Given the description of an element on the screen output the (x, y) to click on. 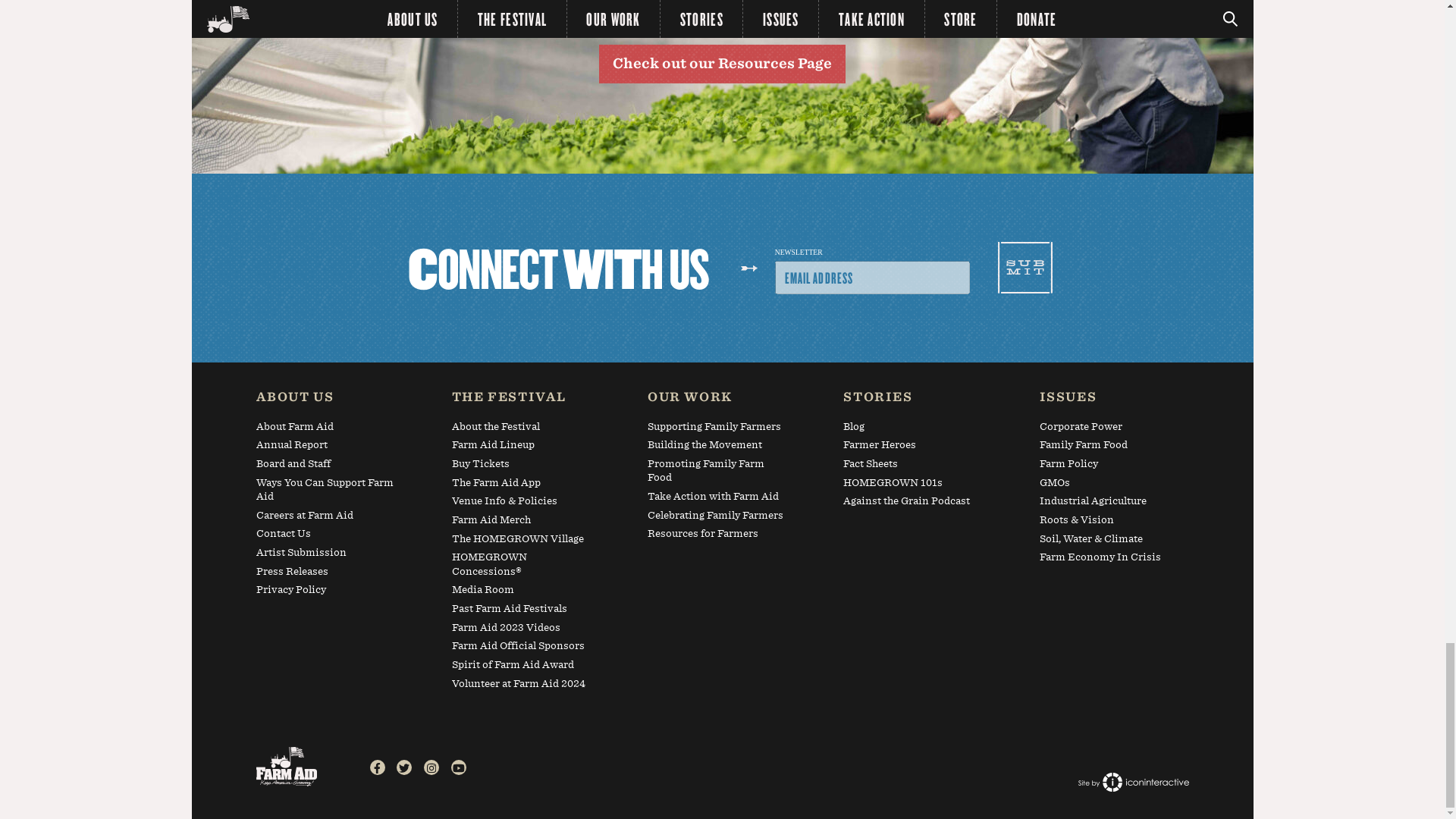
Ways You Can Support Farm Aid (326, 491)
ABOUT US (326, 400)
Contact Us (326, 536)
Check out our Resources Page (721, 64)
Annual Report (326, 447)
Careers at Farm Aid (326, 517)
Board and Staff (326, 466)
About Farm Aid (326, 429)
